Given the description of an element on the screen output the (x, y) to click on. 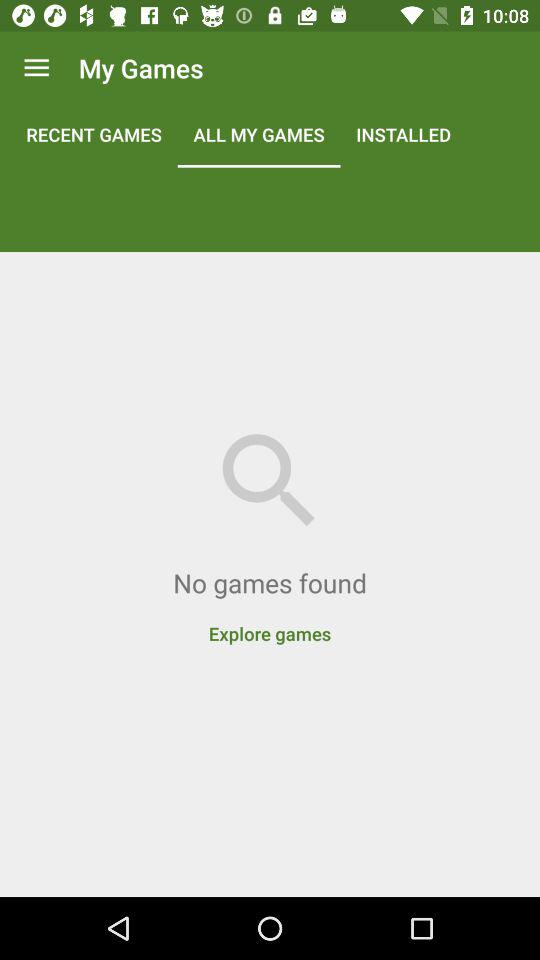
scroll to explore games item (270, 623)
